Given the description of an element on the screen output the (x, y) to click on. 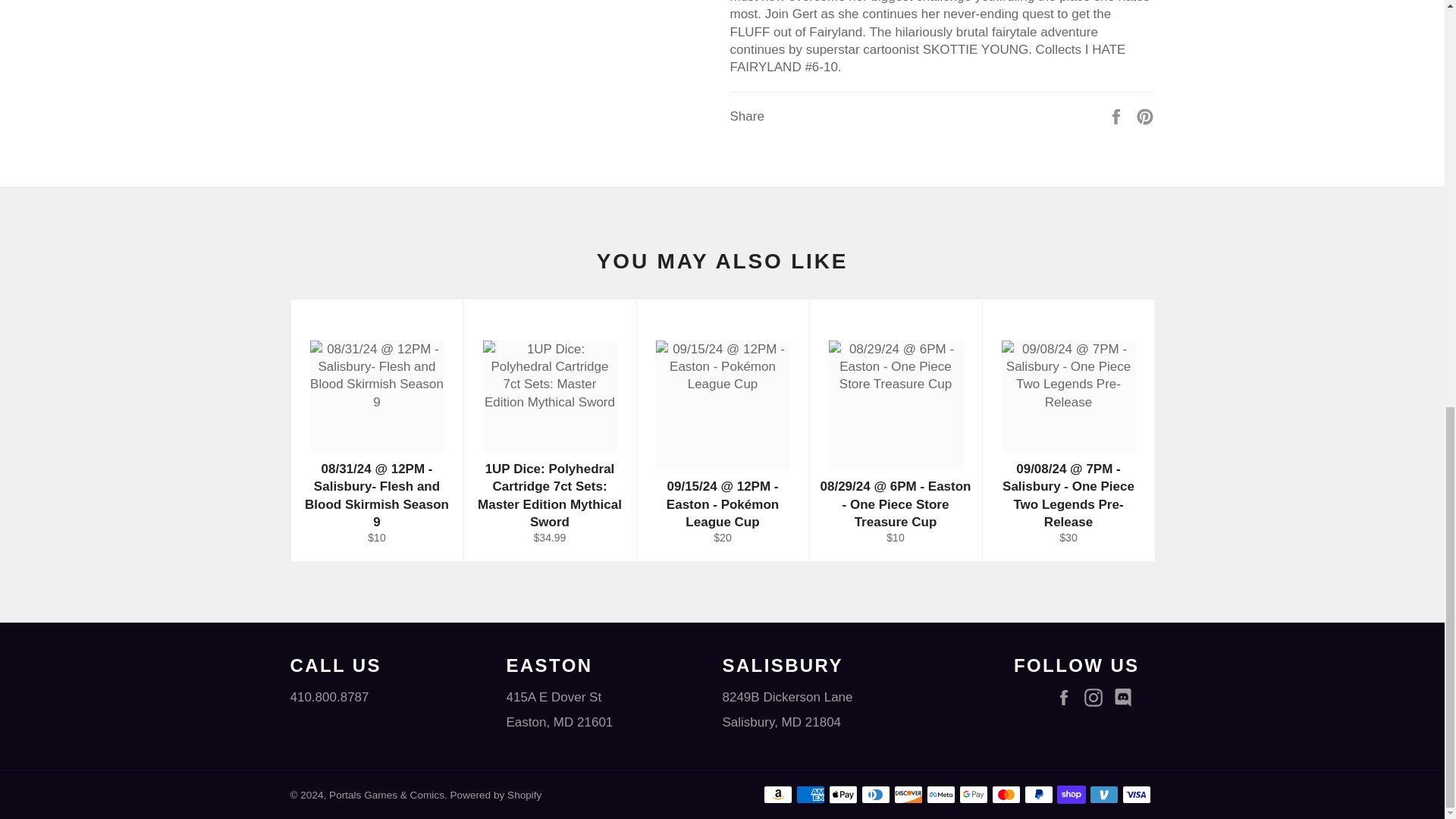
American Express (810, 794)
Amazon (777, 794)
Apple Pay (842, 794)
Discord (1125, 697)
Share on Facebook (1117, 115)
Google Pay (972, 794)
Meta Pay (940, 794)
Diners Club (875, 794)
Pin on Pinterest (1144, 115)
Discover (907, 794)
